Given the description of an element on the screen output the (x, y) to click on. 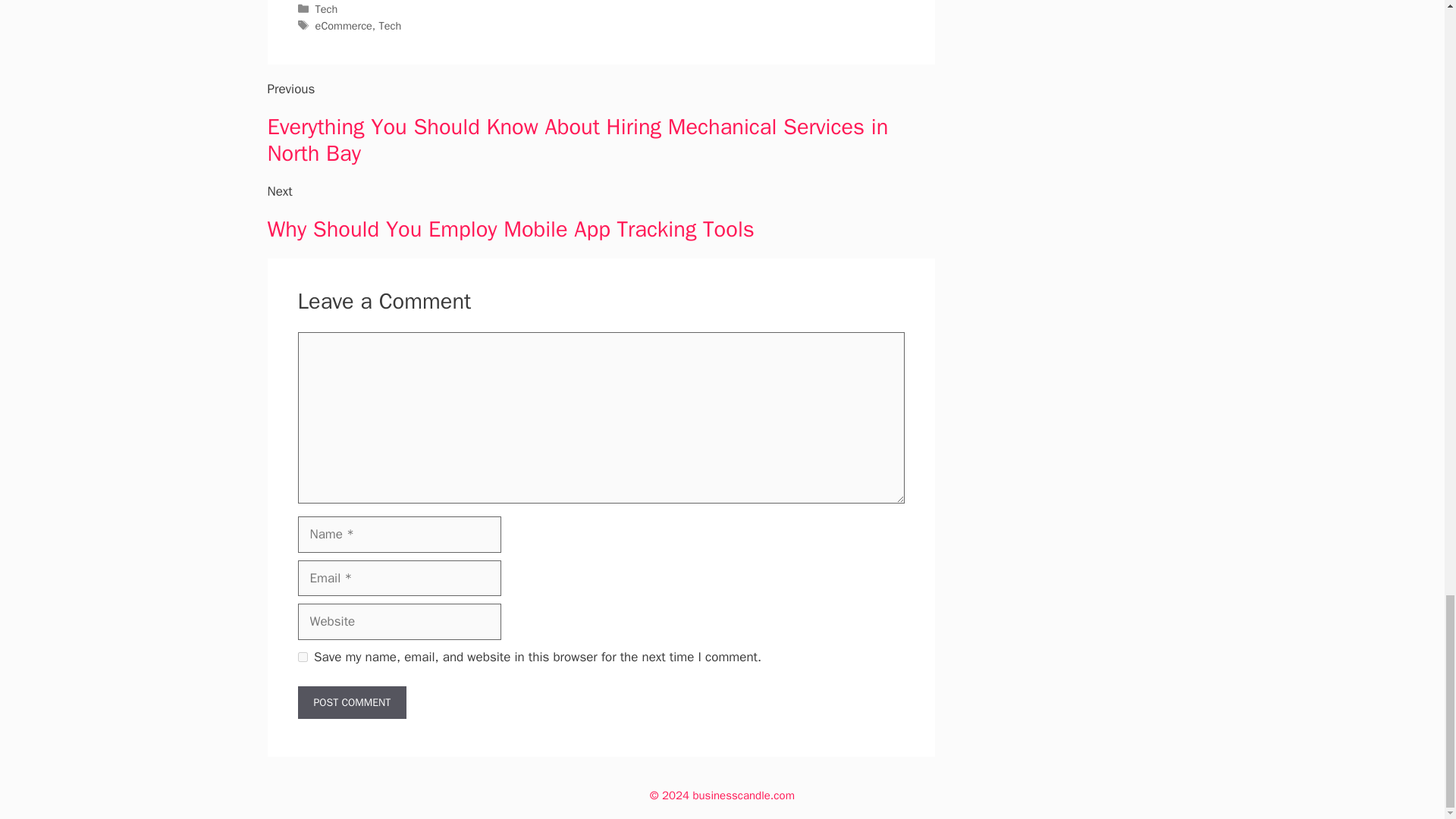
Post Comment (351, 702)
Tech (389, 25)
eCommerce (343, 25)
Post Comment (351, 702)
yes (302, 656)
Why Should You Employ Mobile App Tracking Tools (510, 229)
Tech (326, 8)
